Given the description of an element on the screen output the (x, y) to click on. 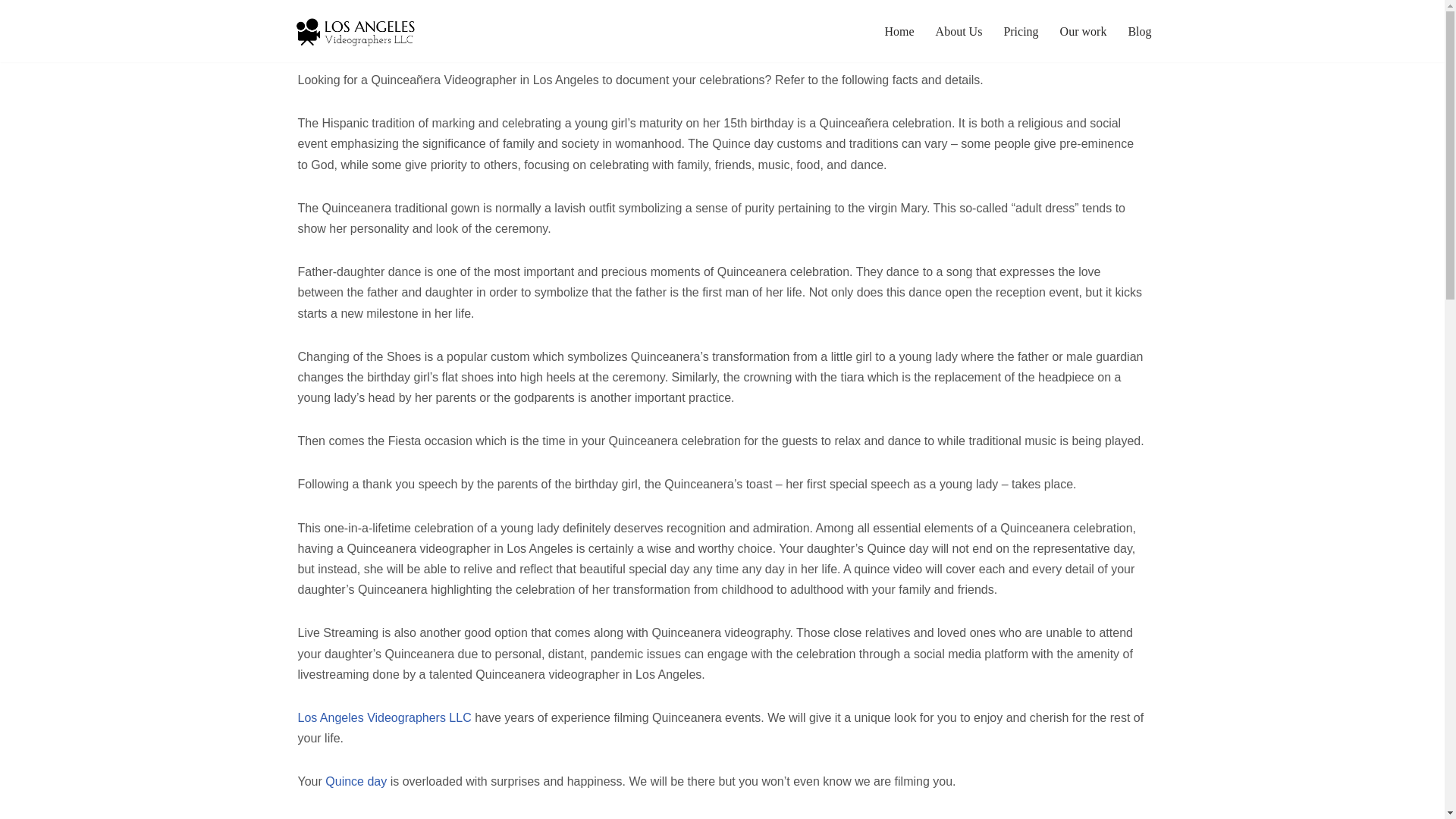
About Us (959, 31)
Los Angeles Videographers LLC (383, 717)
Pricing (1020, 31)
Skip to content (11, 31)
Blog (1138, 31)
Quince day (355, 780)
Home (898, 31)
Our work (1082, 31)
